Given the description of an element on the screen output the (x, y) to click on. 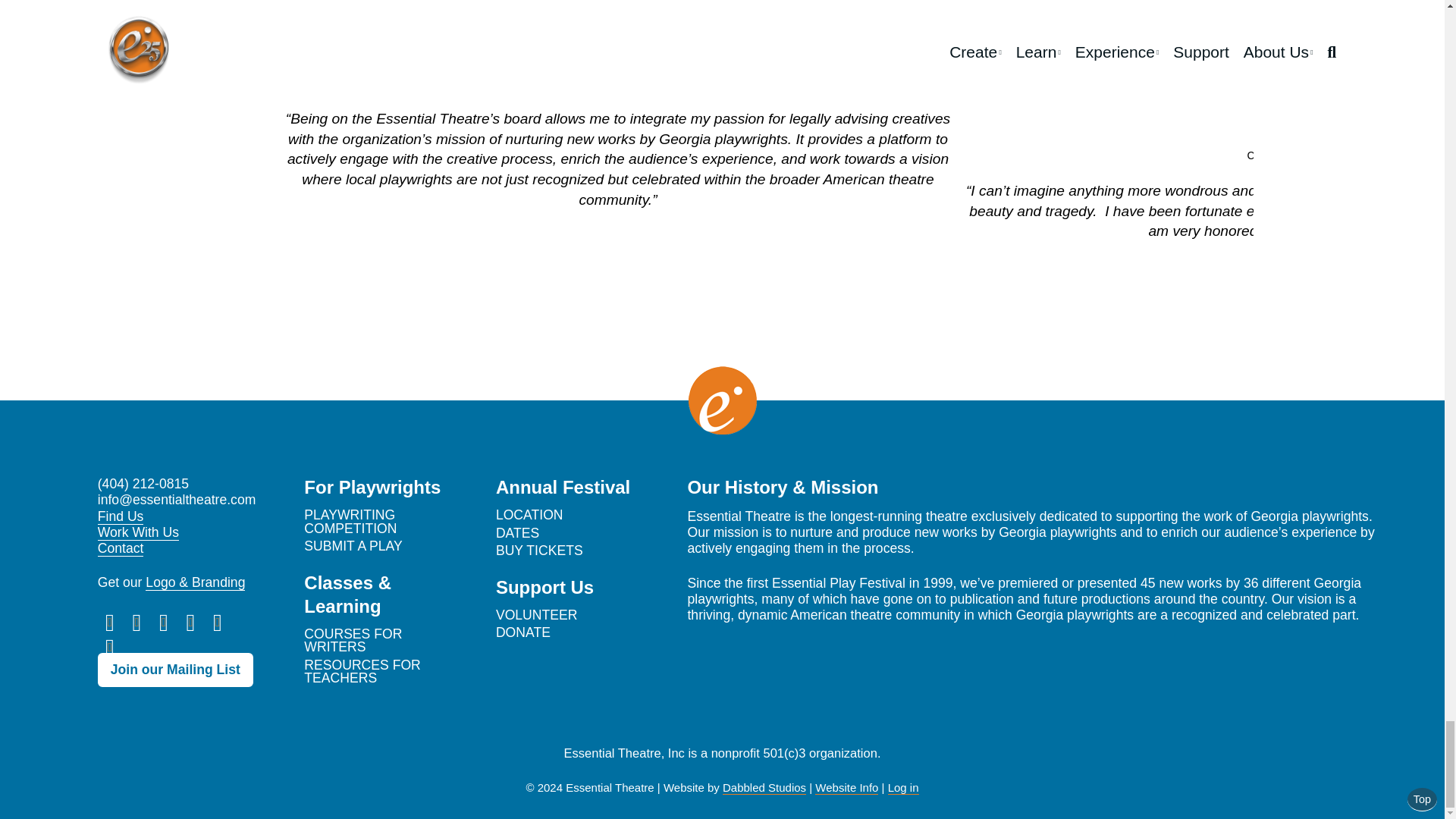
RESOURCES FOR TEACHERS (362, 671)
Contact Us (109, 646)
Dabbled Studios Atlanta- web design (764, 787)
Contact (120, 548)
PLAYWRITING COMPETITION (350, 521)
Follow us on Twitter (109, 621)
Work With Us (138, 532)
Join our Mailing List (175, 669)
Find Us (120, 516)
Connect with us on LinkedIn (163, 621)
